Given the description of an element on the screen output the (x, y) to click on. 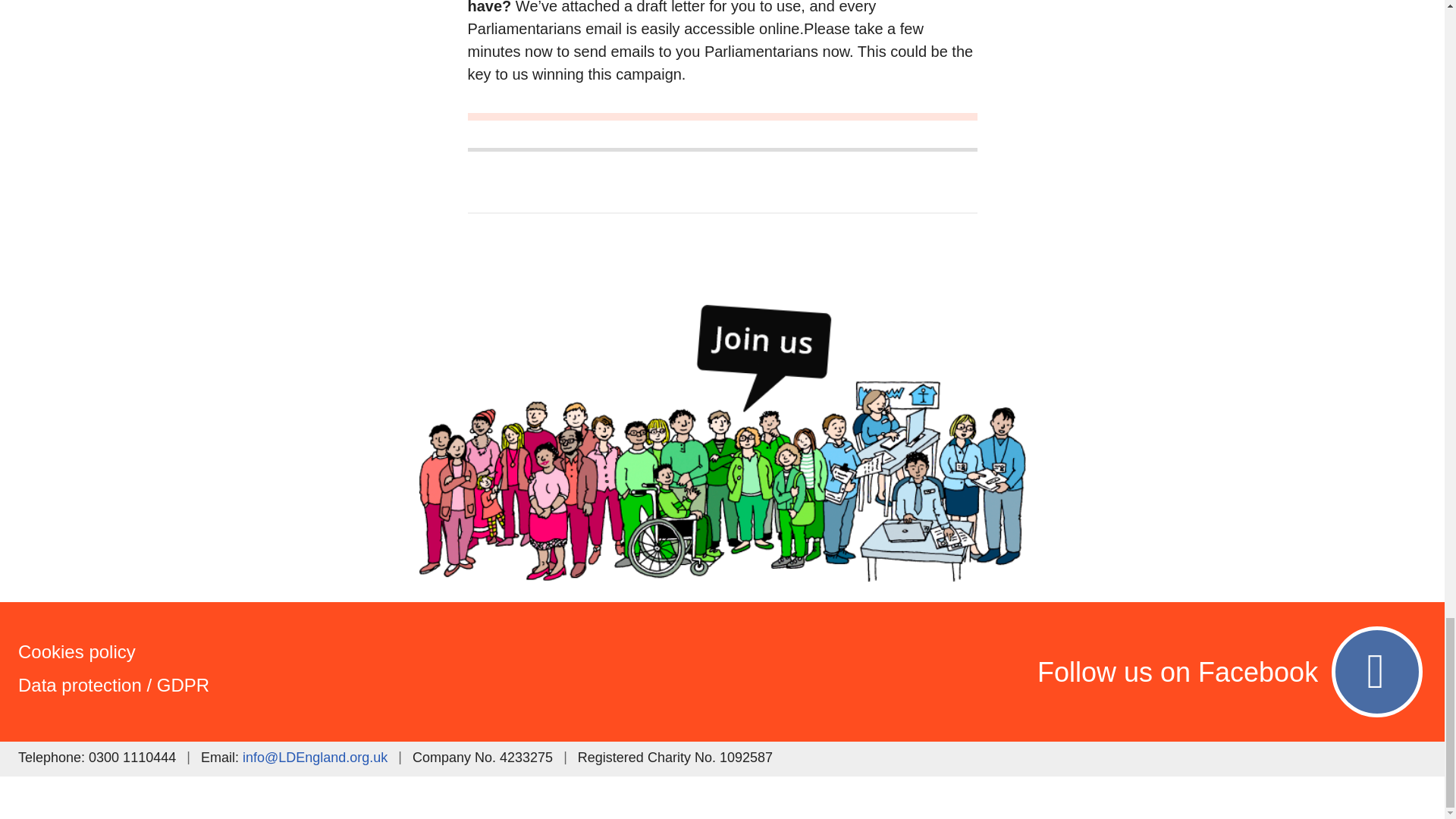
facebook (964, 671)
Follow us on Facebook (964, 671)
Cookies policy (260, 651)
